Given the description of an element on the screen output the (x, y) to click on. 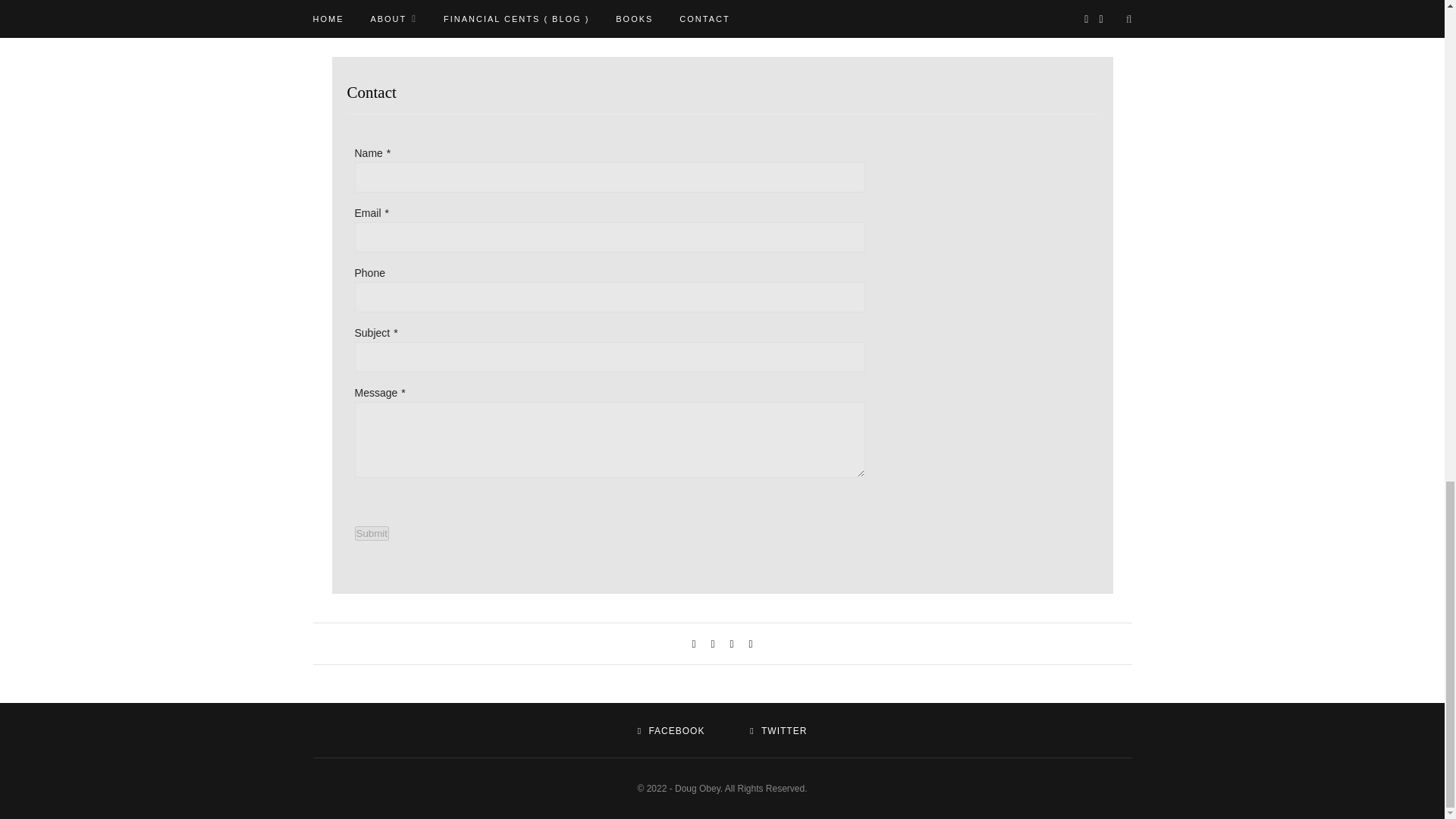
Submit (371, 533)
FACEBOOK (670, 730)
TWITTER (777, 730)
